Given the description of an element on the screen output the (x, y) to click on. 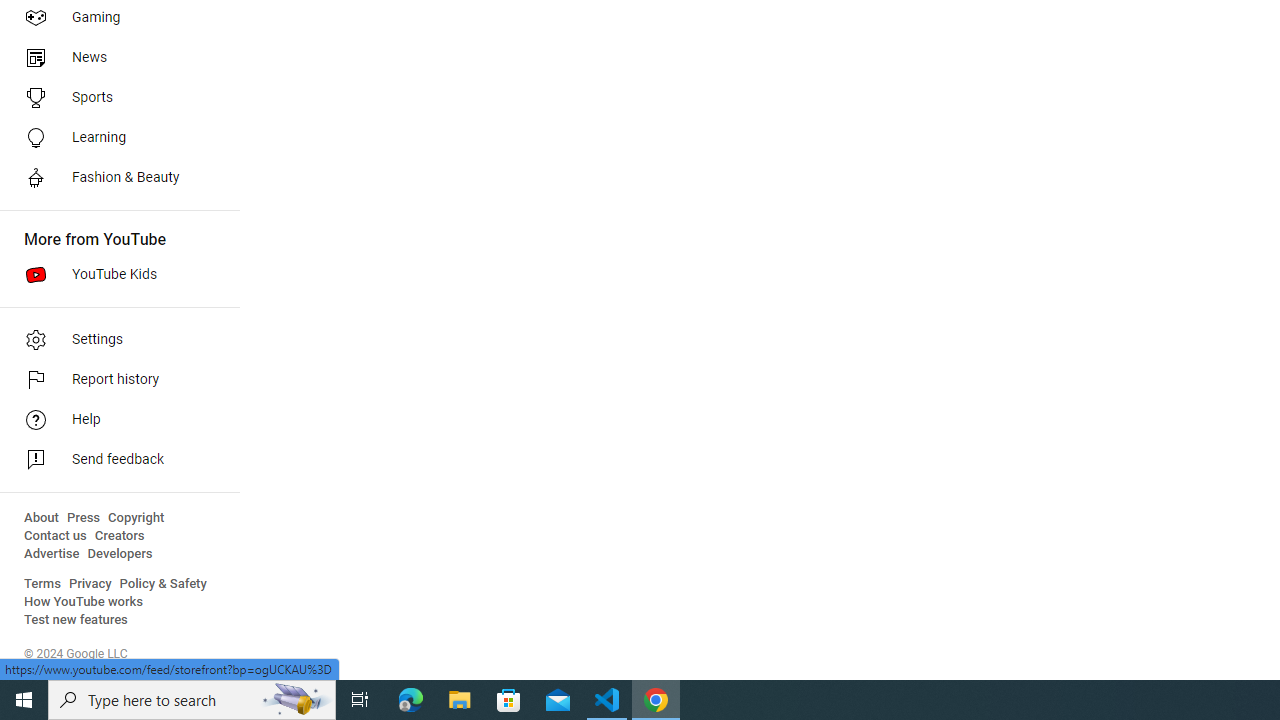
Send feedback (113, 459)
YouTube Kids (113, 274)
Copyright (136, 518)
Developers (120, 554)
News (113, 57)
Advertise (51, 554)
Learning (113, 137)
Sports (113, 97)
Contact us (55, 536)
Press (83, 518)
Test new features (76, 620)
